Given the description of an element on the screen output the (x, y) to click on. 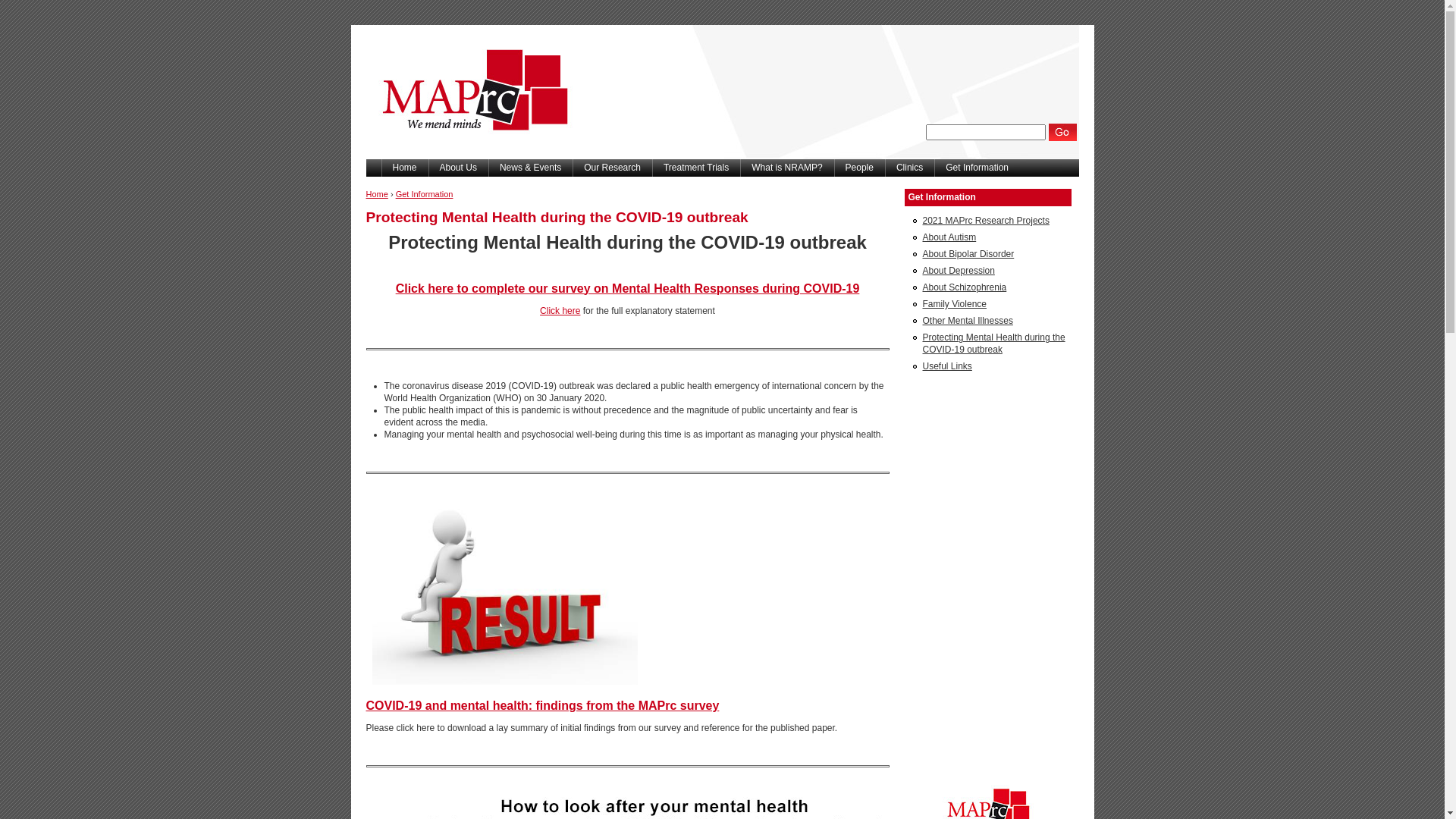
News & Events Element type: text (530, 167)
Get Information Element type: text (424, 193)
People Element type: text (859, 167)
About Autism Element type: text (948, 237)
Get Information Element type: text (976, 167)
Search Element type: text (1063, 132)
What is NRAMP? Element type: text (786, 167)
Get Information Element type: text (986, 197)
Click here Element type: text (559, 310)
About Depression Element type: text (958, 270)
Enter the terms you wish to search for. Element type: hover (985, 132)
Home Element type: hover (469, 155)
Clinics Element type: text (909, 167)
Our Research Element type: text (612, 167)
Family Violence Element type: text (953, 303)
COVID-19 and mental health: findings from the MAPrc survey Element type: text (541, 705)
Home Element type: text (376, 193)
Useful Links Element type: text (946, 365)
Other Mental Illnesses Element type: text (967, 320)
About Bipolar Disorder Element type: text (967, 253)
Protecting Mental Health during the COVID-19 outbreak Element type: text (993, 343)
2021 MAPrc Research Projects Element type: text (985, 220)
About Us Element type: text (458, 167)
Home Element type: text (403, 167)
Treatment Trials Element type: text (696, 167)
About Schizophrenia Element type: text (964, 287)
